Given the description of an element on the screen output the (x, y) to click on. 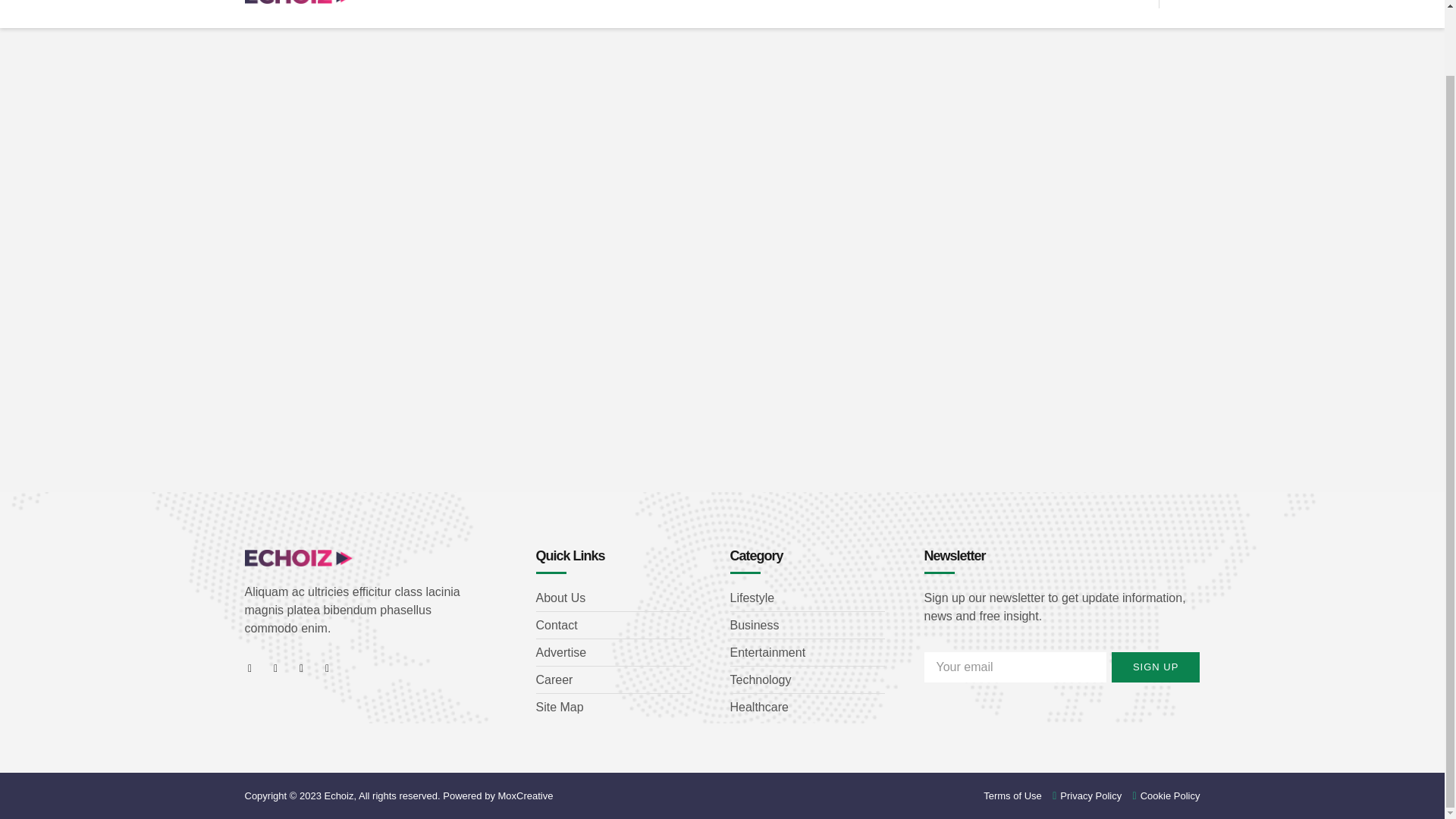
Career (612, 679)
SIGN UP (1155, 666)
Technology (806, 679)
Site Map (612, 707)
Healthcare (806, 707)
Cookie Policy (1160, 795)
Lifestyle (806, 597)
START-UP UPDATES (713, 4)
Privacy Policy (1082, 795)
Contact (612, 625)
